Given the description of an element on the screen output the (x, y) to click on. 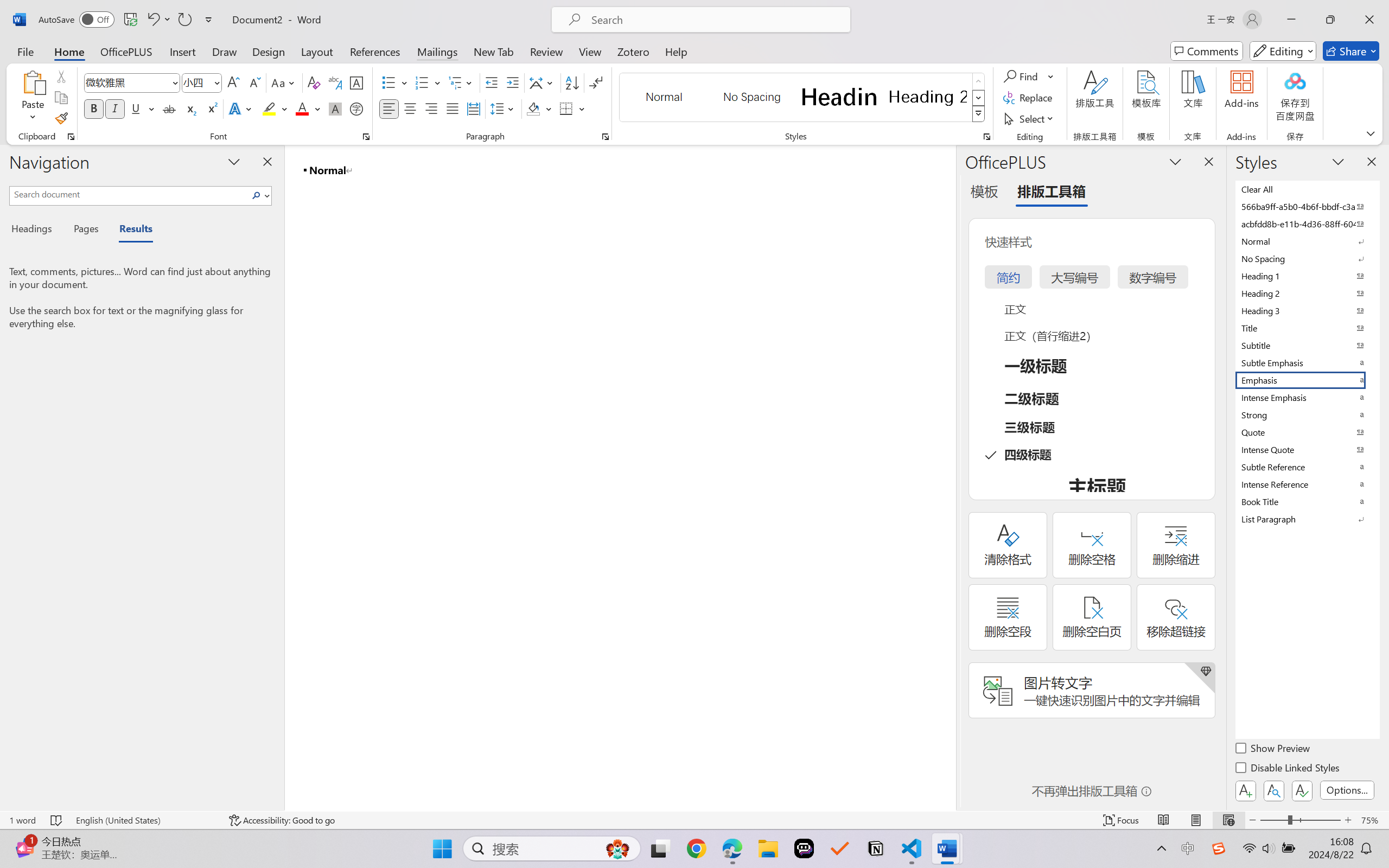
Font... (365, 136)
Zoom Out (1273, 819)
Results (130, 229)
Font (126, 82)
Bullets (395, 82)
Class: NetUIButton (1301, 790)
Class: MsoCommandBar (694, 819)
Shading (539, 108)
New Tab (493, 51)
File Tab (24, 51)
Copy (60, 97)
Comments (1206, 50)
